Given the description of an element on the screen output the (x, y) to click on. 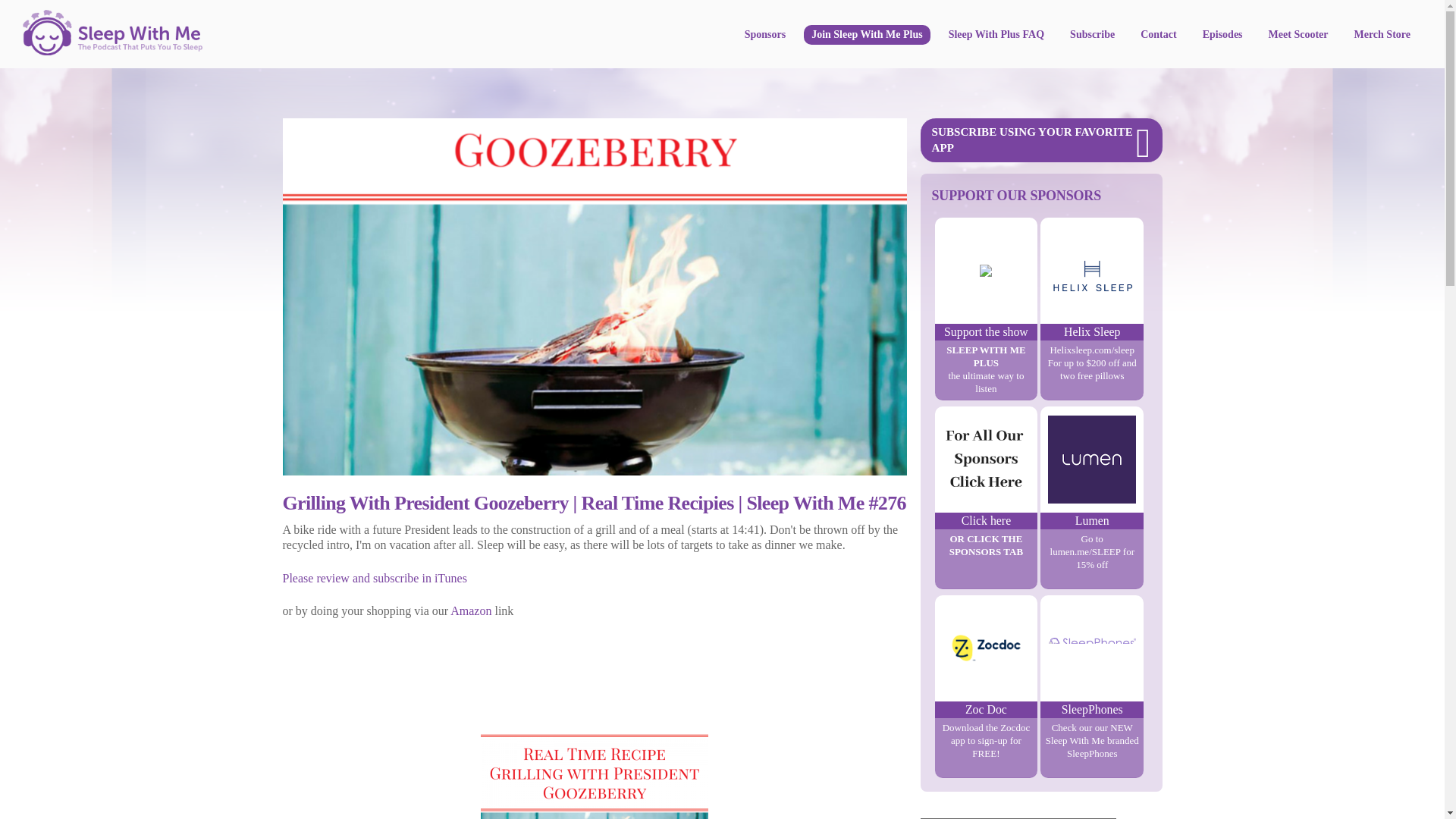
Please review and subscribe in iTunes (373, 577)
Join Sleep With Me Plus (866, 35)
Merch Store (1381, 35)
Subscribe (1092, 35)
Sleep With Me (112, 48)
Meet Scooter (1298, 35)
SUBSCRIBE USING YOUR FAVORITE APP (1040, 139)
Sponsors (764, 35)
Contact (1157, 35)
Sleep With Plus FAQ (995, 35)
